Given the description of an element on the screen output the (x, y) to click on. 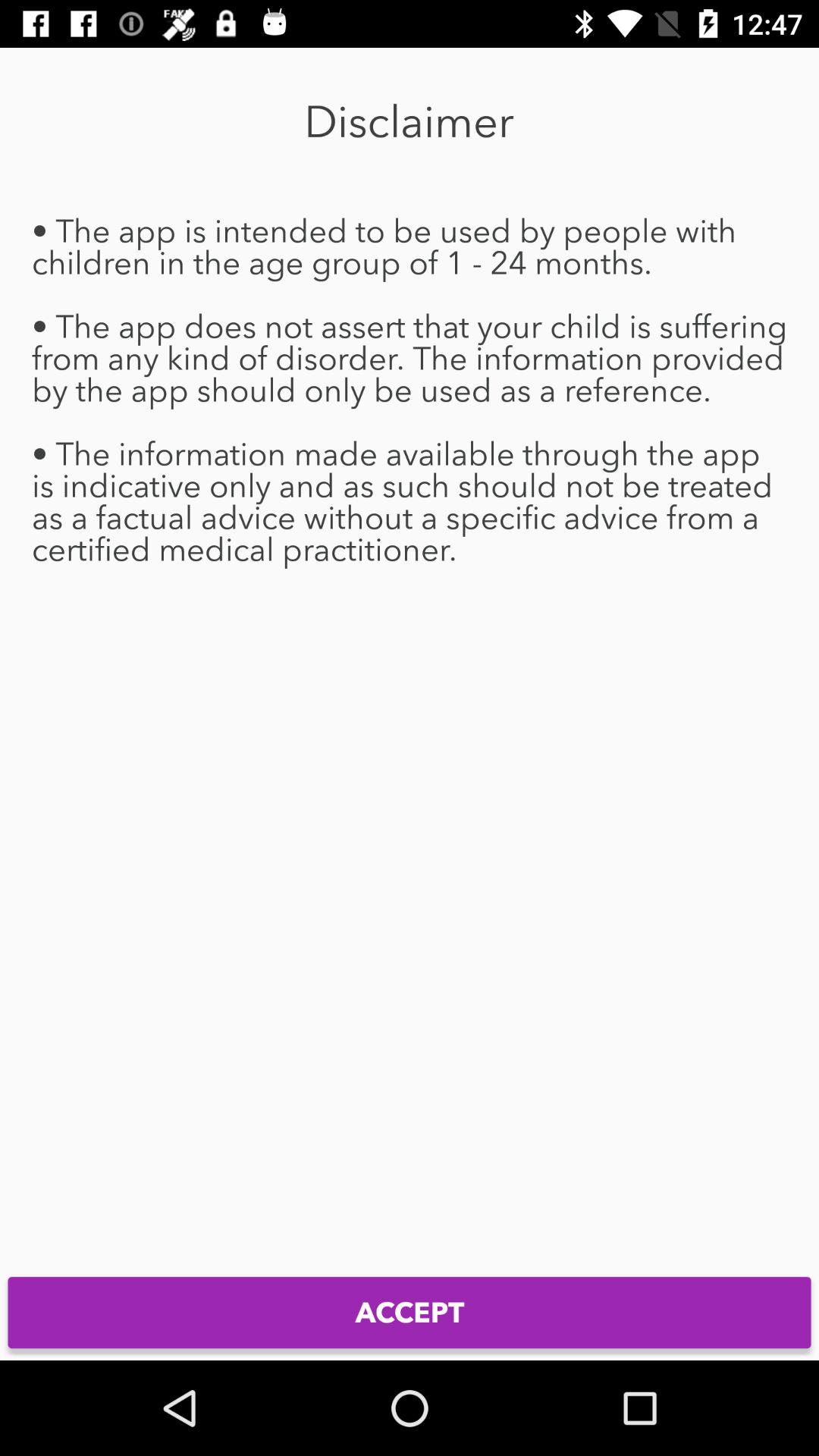
turn off icon below the app is item (409, 1312)
